Given the description of an element on the screen output the (x, y) to click on. 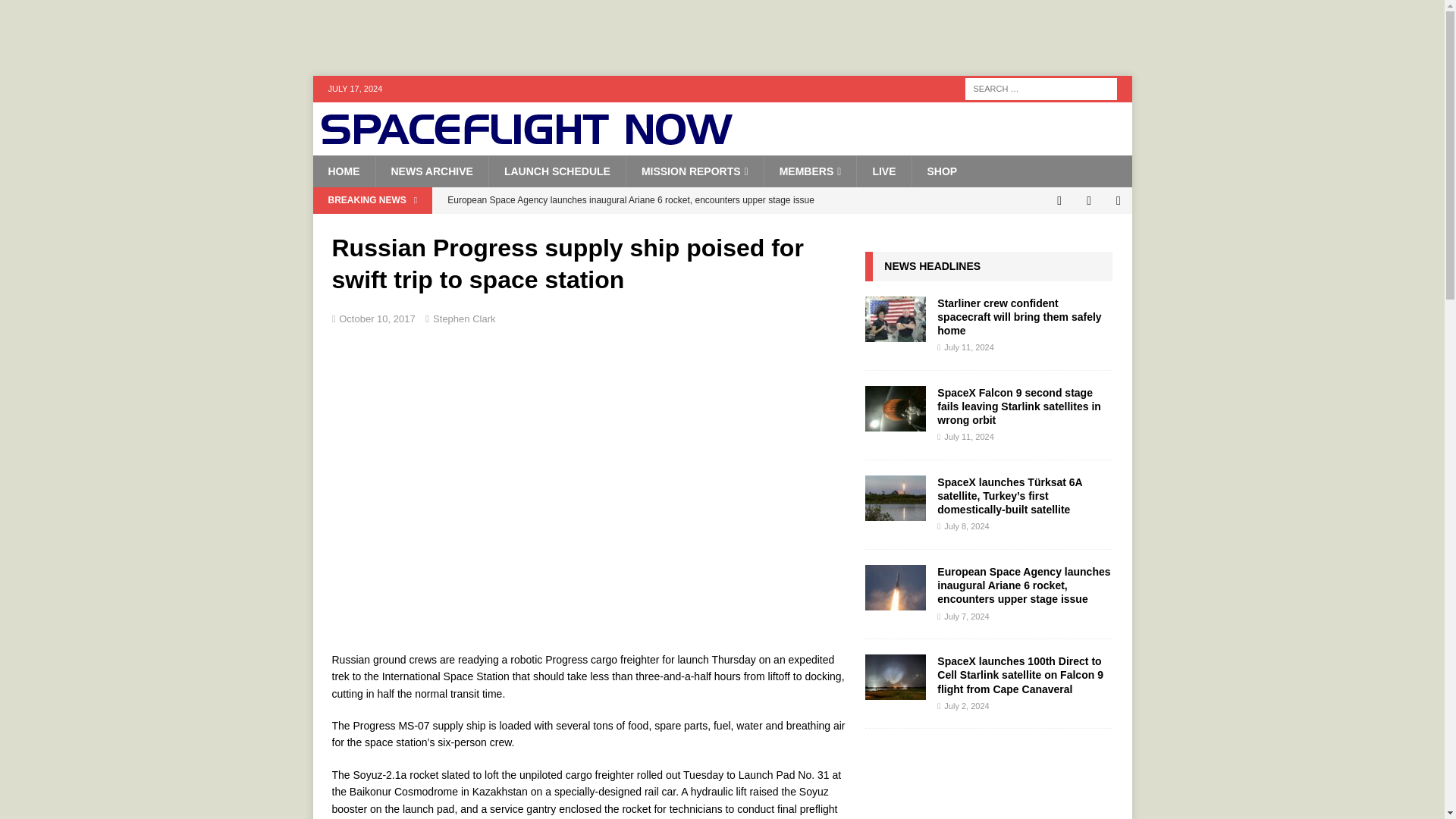
Search (56, 11)
HOME (343, 171)
MEMBERS (809, 171)
MISSION REPORTS (694, 171)
LAUNCH SCHEDULE (556, 171)
NEWS ARCHIVE (430, 171)
Spaceflight Now (526, 139)
